Given the description of an element on the screen output the (x, y) to click on. 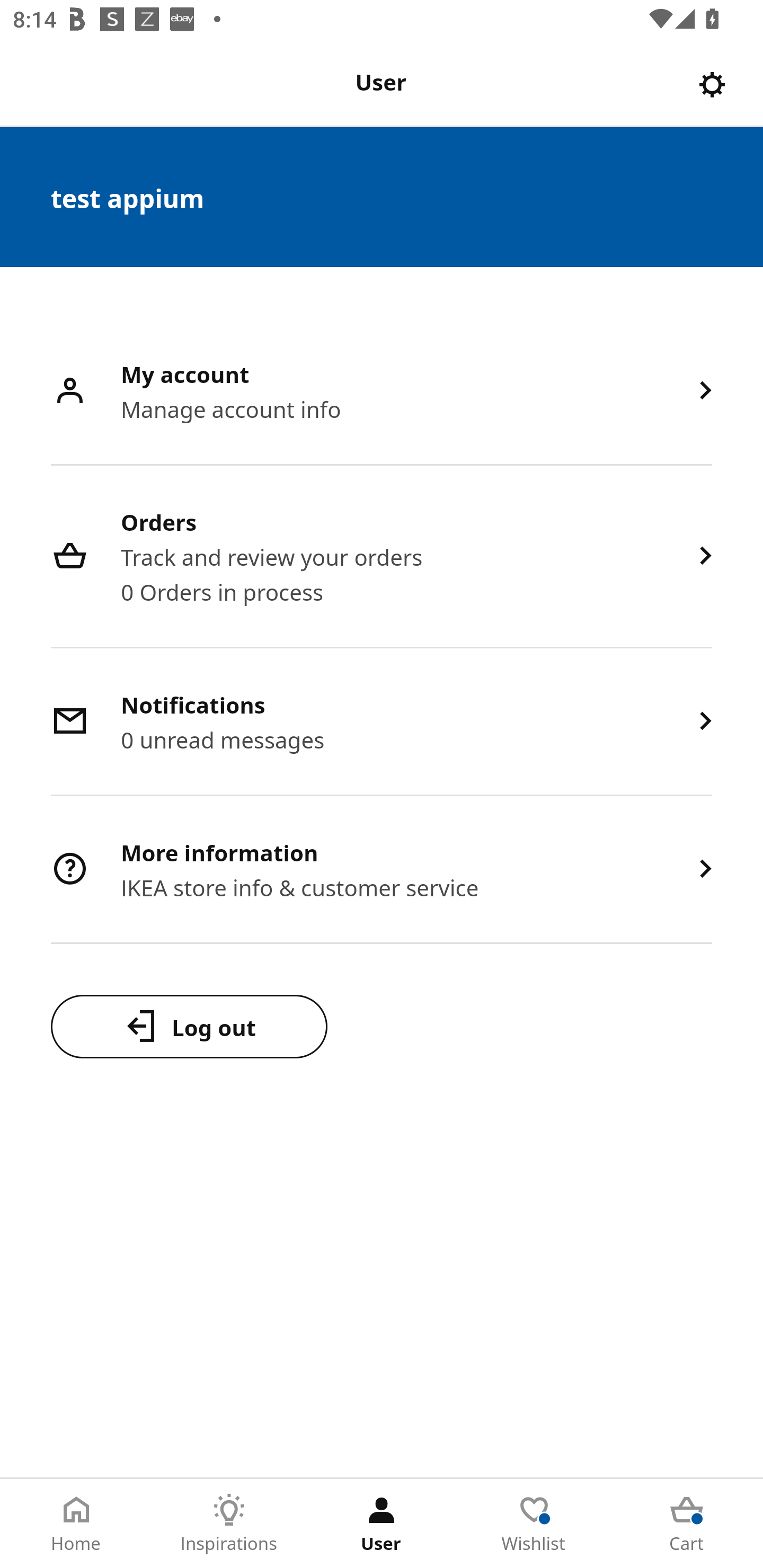
My account
Manage account info (381, 391)
Notifications
0 unread messages (381, 722)
Log out (189, 1026)
Home
Tab 1 of 5 (76, 1522)
Inspirations
Tab 2 of 5 (228, 1522)
User
Tab 3 of 5 (381, 1522)
Wishlist
Tab 4 of 5 (533, 1522)
Cart
Tab 5 of 5 (686, 1522)
